Given the description of an element on the screen output the (x, y) to click on. 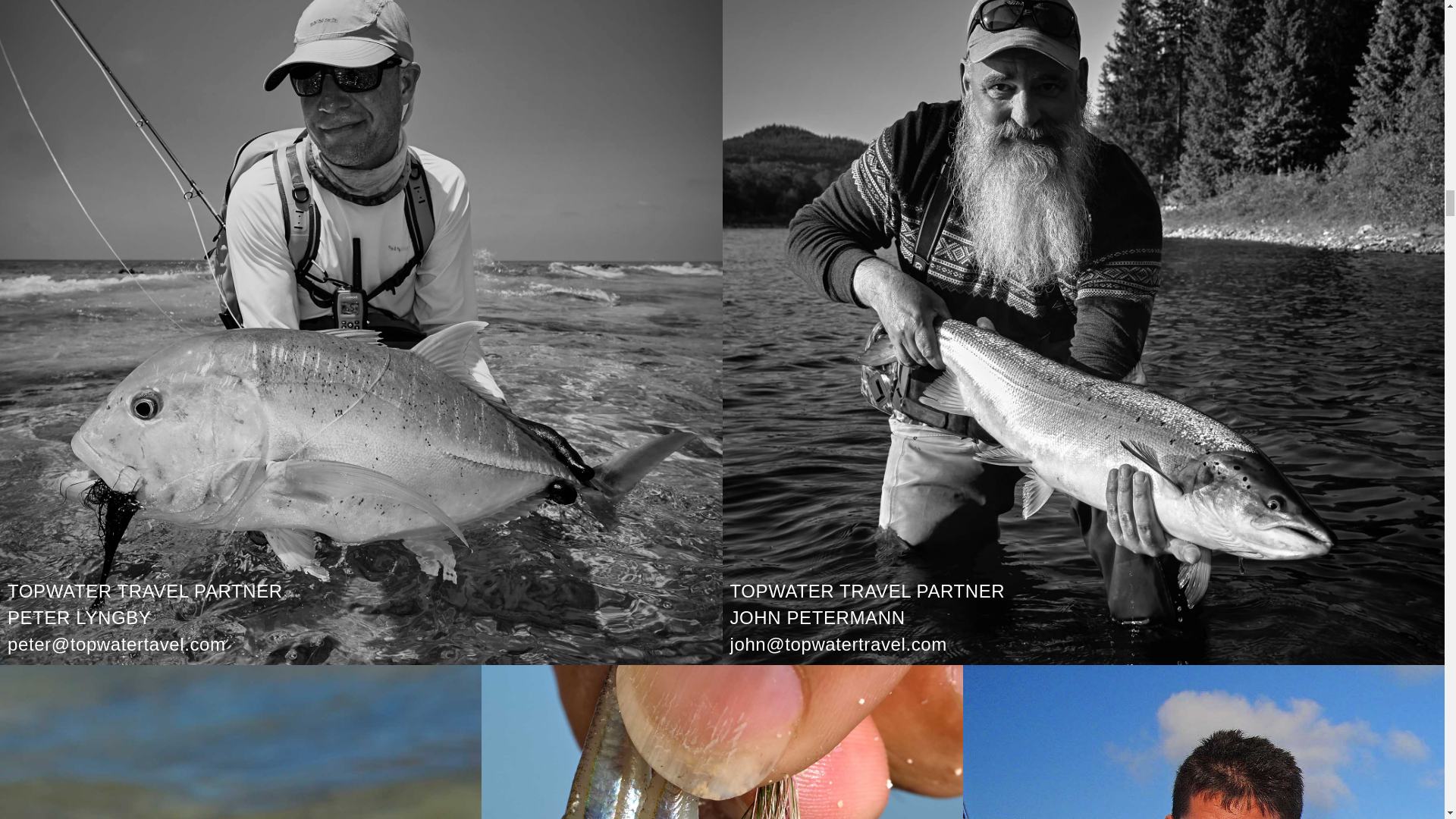
CRAB OR SHRIMP? (240, 742)
BAITFISH BONANZA (721, 742)
